Given the description of an element on the screen output the (x, y) to click on. 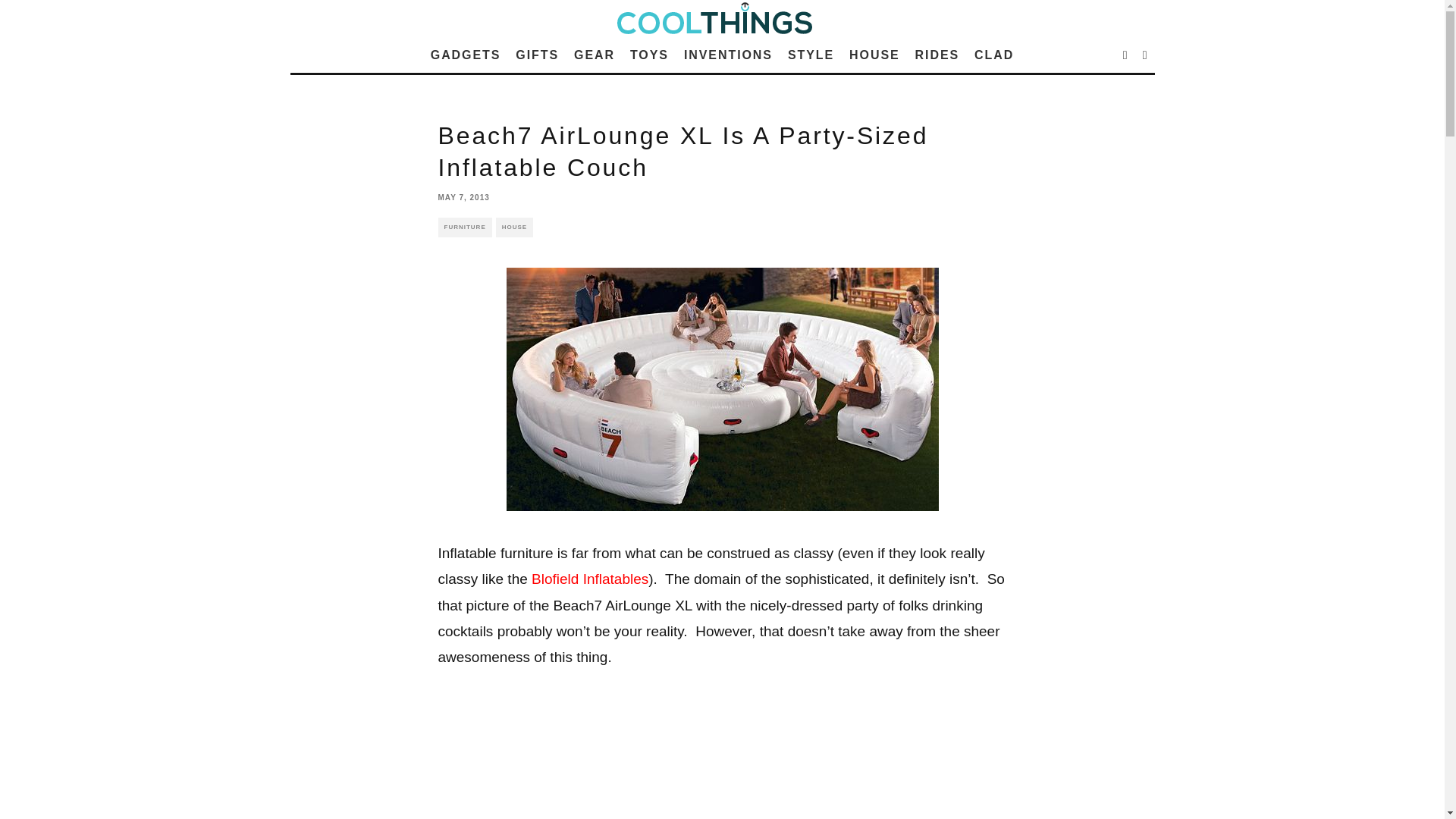
INVENTIONS (728, 54)
GEAR (594, 54)
Advertisement (722, 759)
GIFTS (537, 54)
TOYS (650, 54)
GADGETS (465, 54)
STYLE (810, 54)
